Given the description of an element on the screen output the (x, y) to click on. 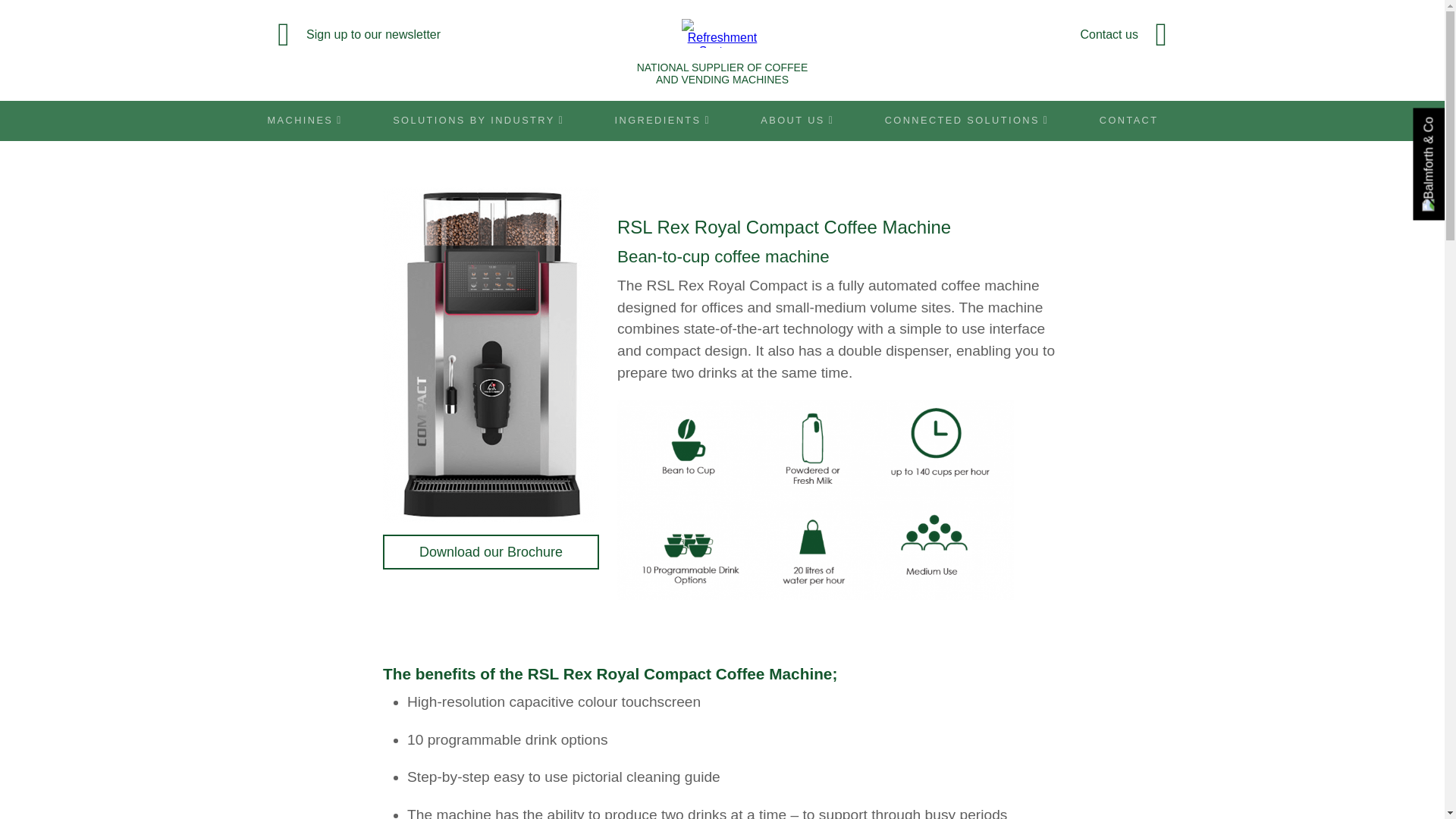
MACHINES (313, 120)
SOLUTIONS BY INDUSTRY (478, 120)
Contact us  (1030, 34)
INGREDIENTS (662, 120)
 Sign up to our newsletter (413, 34)
